Given the description of an element on the screen output the (x, y) to click on. 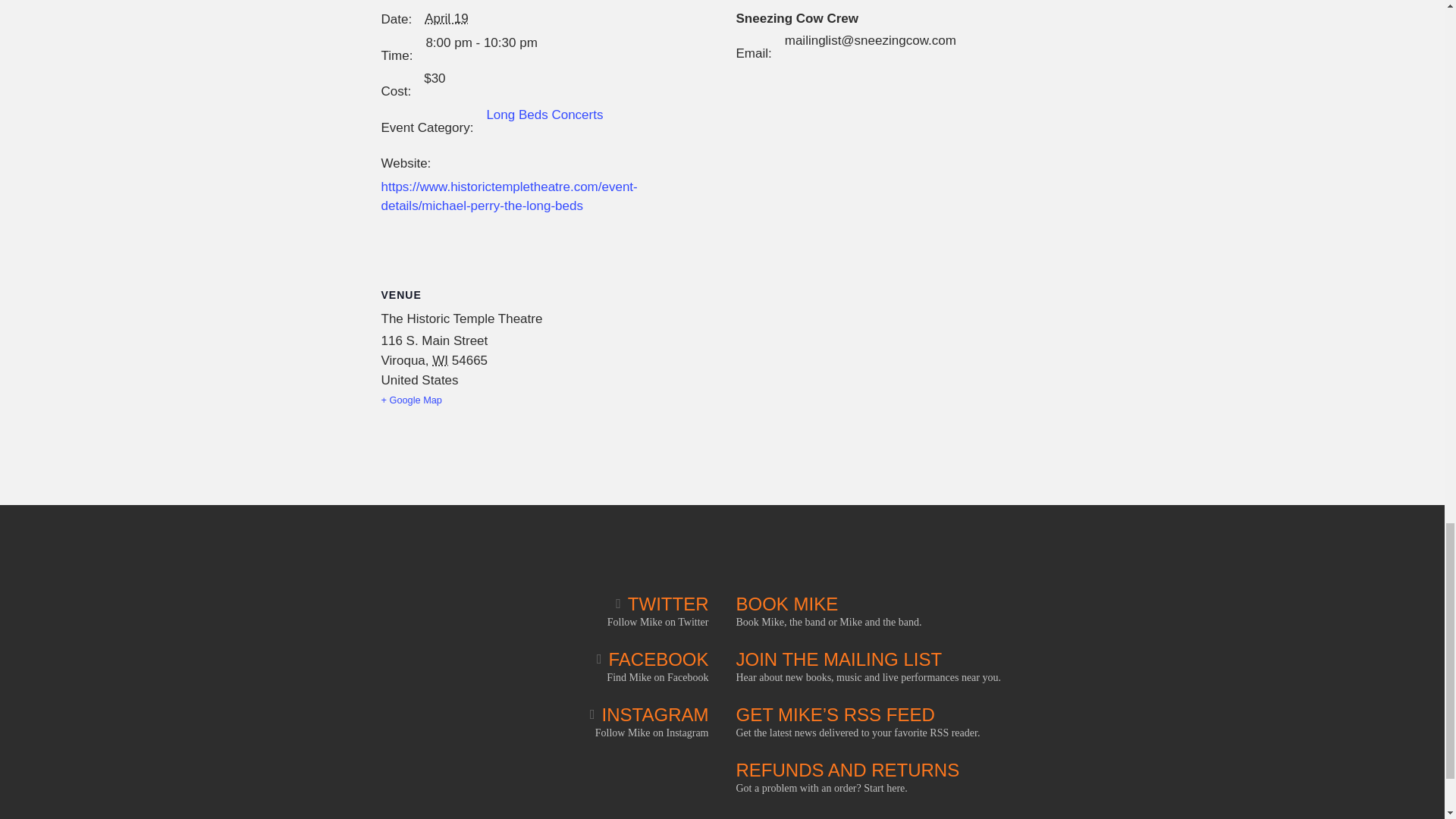
BOOK MIKE (786, 603)
2024-04-19 (446, 18)
Wisconsin (440, 359)
Click to view a Google Map (433, 400)
INSTAGRAM (648, 714)
REFUNDS AND RETURNS (847, 770)
Long Beds Concerts (544, 114)
FACEBOOK (652, 659)
TWITTER (661, 603)
2024-04-19 (481, 43)
JOIN THE MAILING LIST (838, 659)
